Given the description of an element on the screen output the (x, y) to click on. 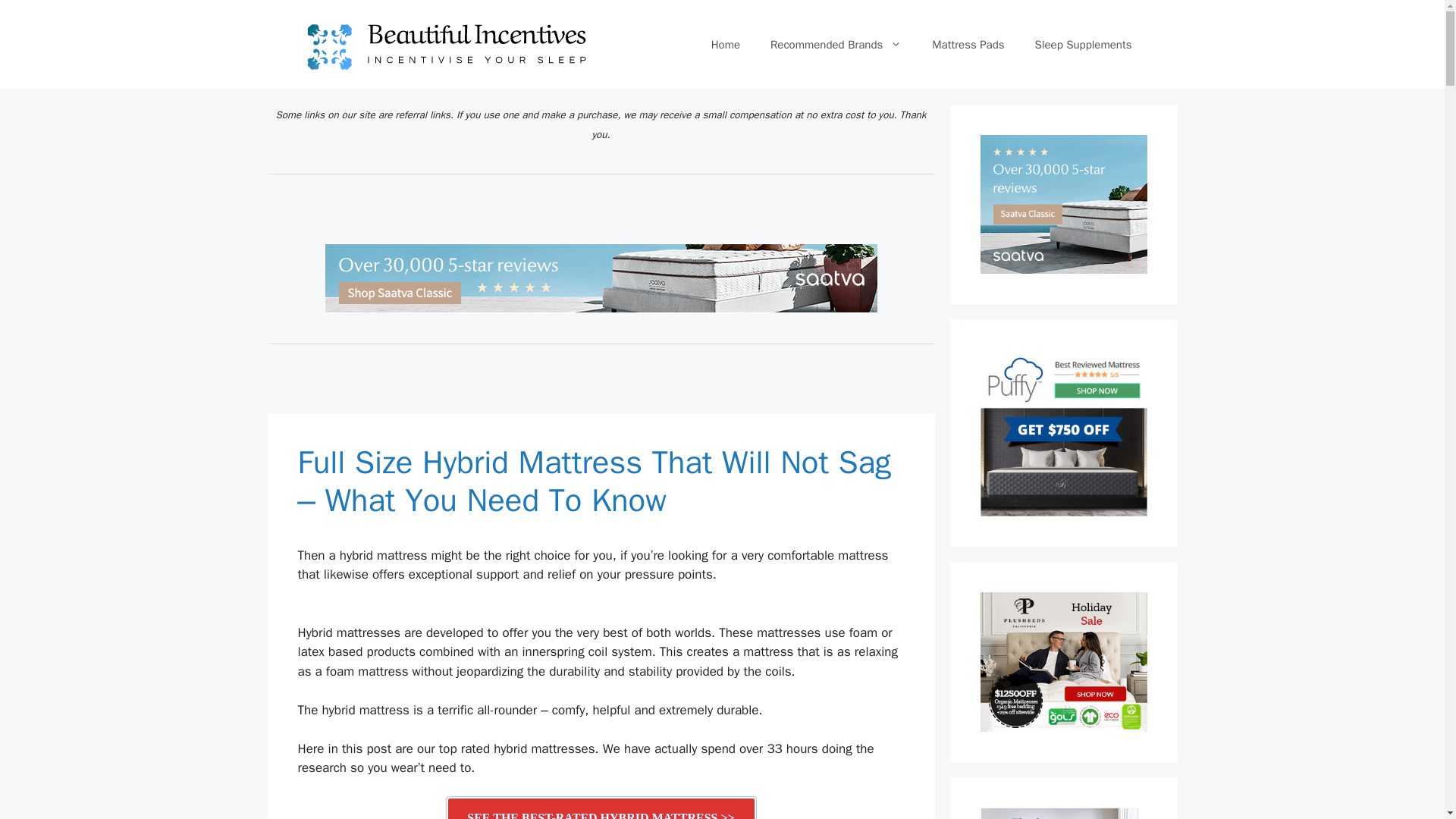
Sleep Supplements (1083, 44)
Mattress Pads (968, 44)
Home (725, 44)
Recommended Brands (836, 44)
